Given the description of an element on the screen output the (x, y) to click on. 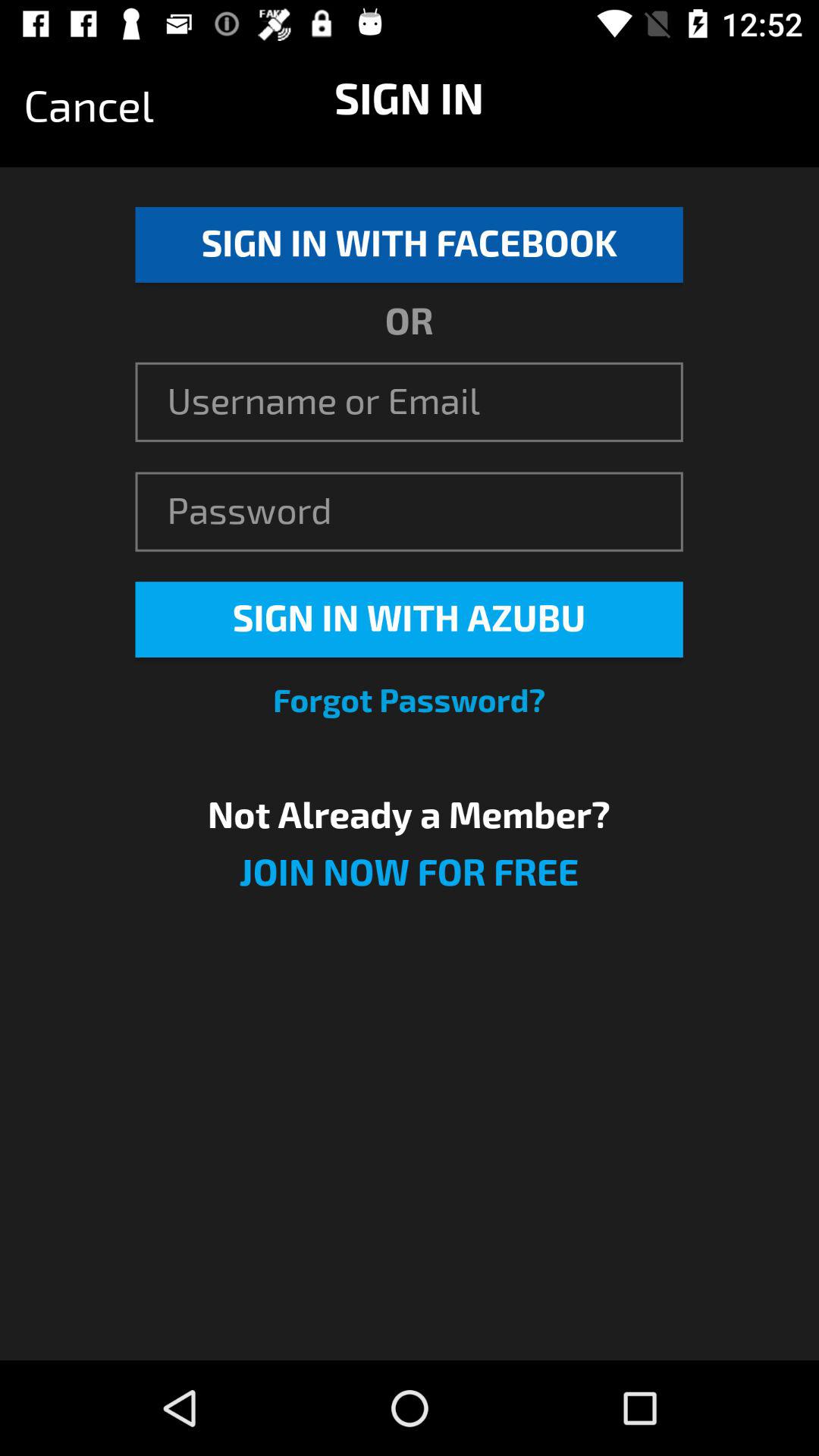
click item to the left of sign in item (89, 107)
